Given the description of an element on the screen output the (x, y) to click on. 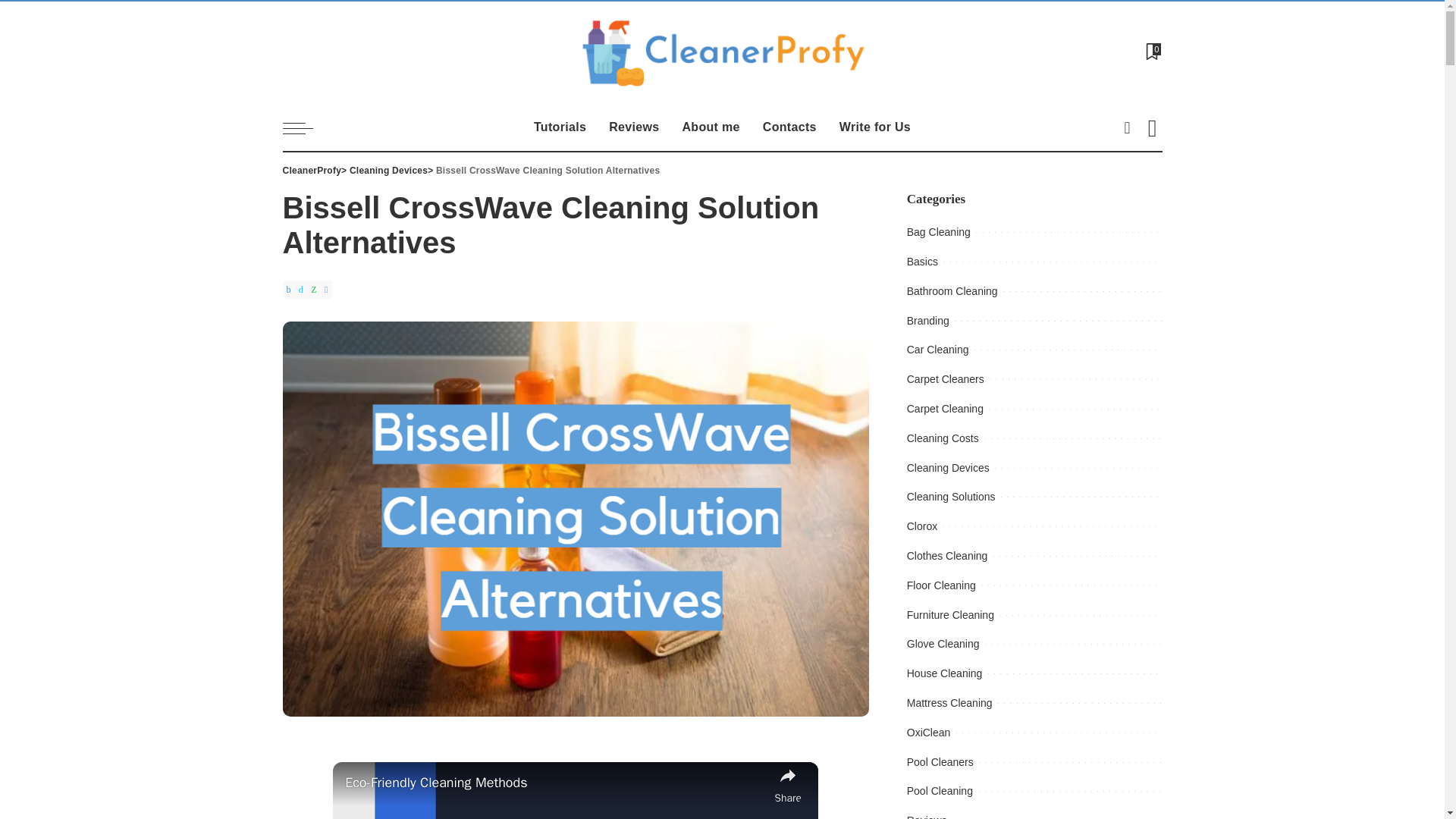
Bookmarks (1151, 53)
Write for Us (874, 127)
Tutorials (559, 127)
Reviews (632, 127)
About me (710, 127)
Contacts (789, 127)
CleanerProfy (722, 53)
0 (1151, 53)
Search (1140, 170)
